Given the description of an element on the screen output the (x, y) to click on. 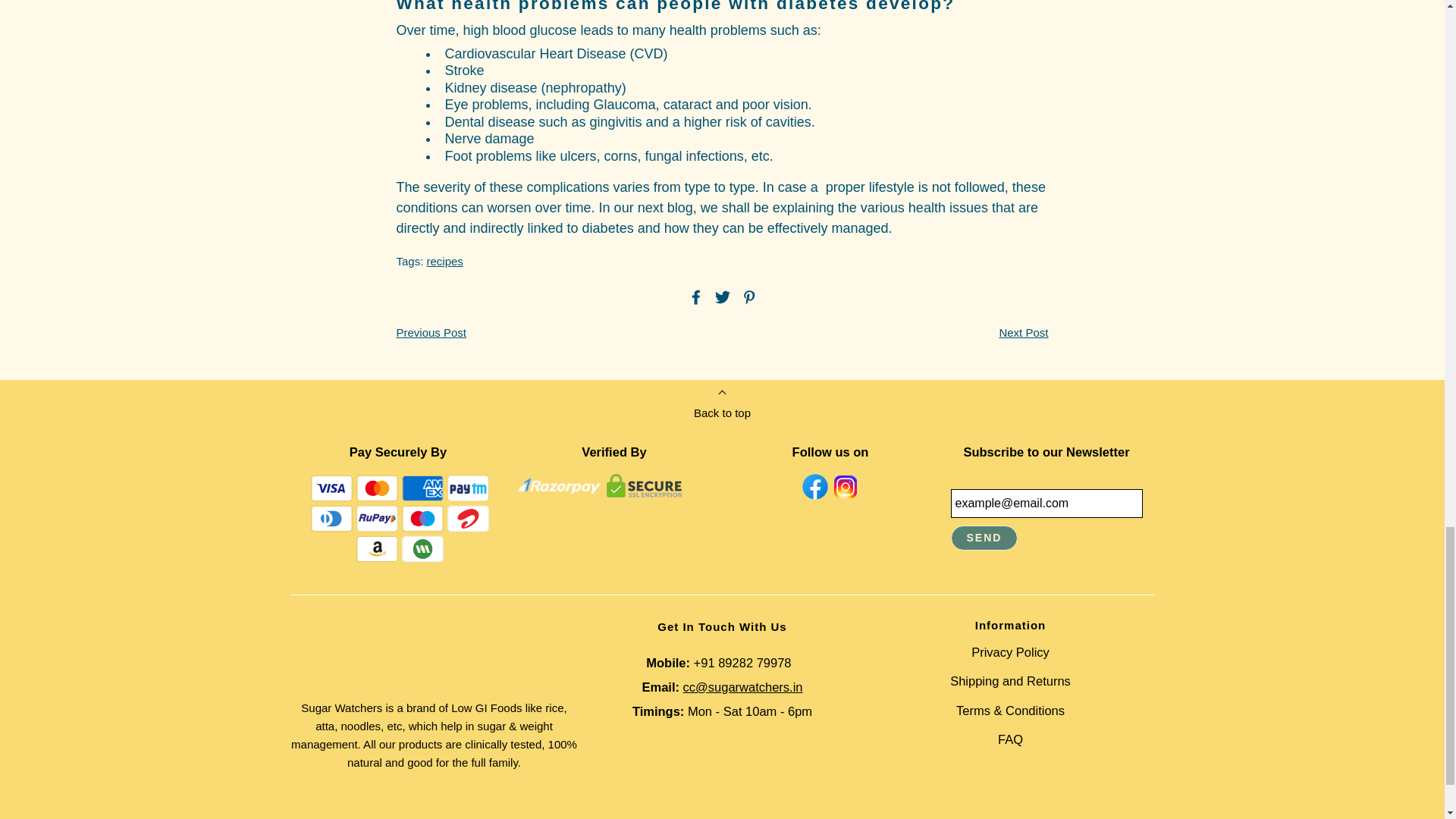
RuPay (376, 518)
Amazon (376, 548)
Maestro (422, 518)
Paytm (467, 488)
Visa (331, 488)
American Express (422, 488)
Airtel Money (467, 518)
Diners Club (331, 518)
Mastercard (376, 488)
Ola Money (422, 548)
